Given the description of an element on the screen output the (x, y) to click on. 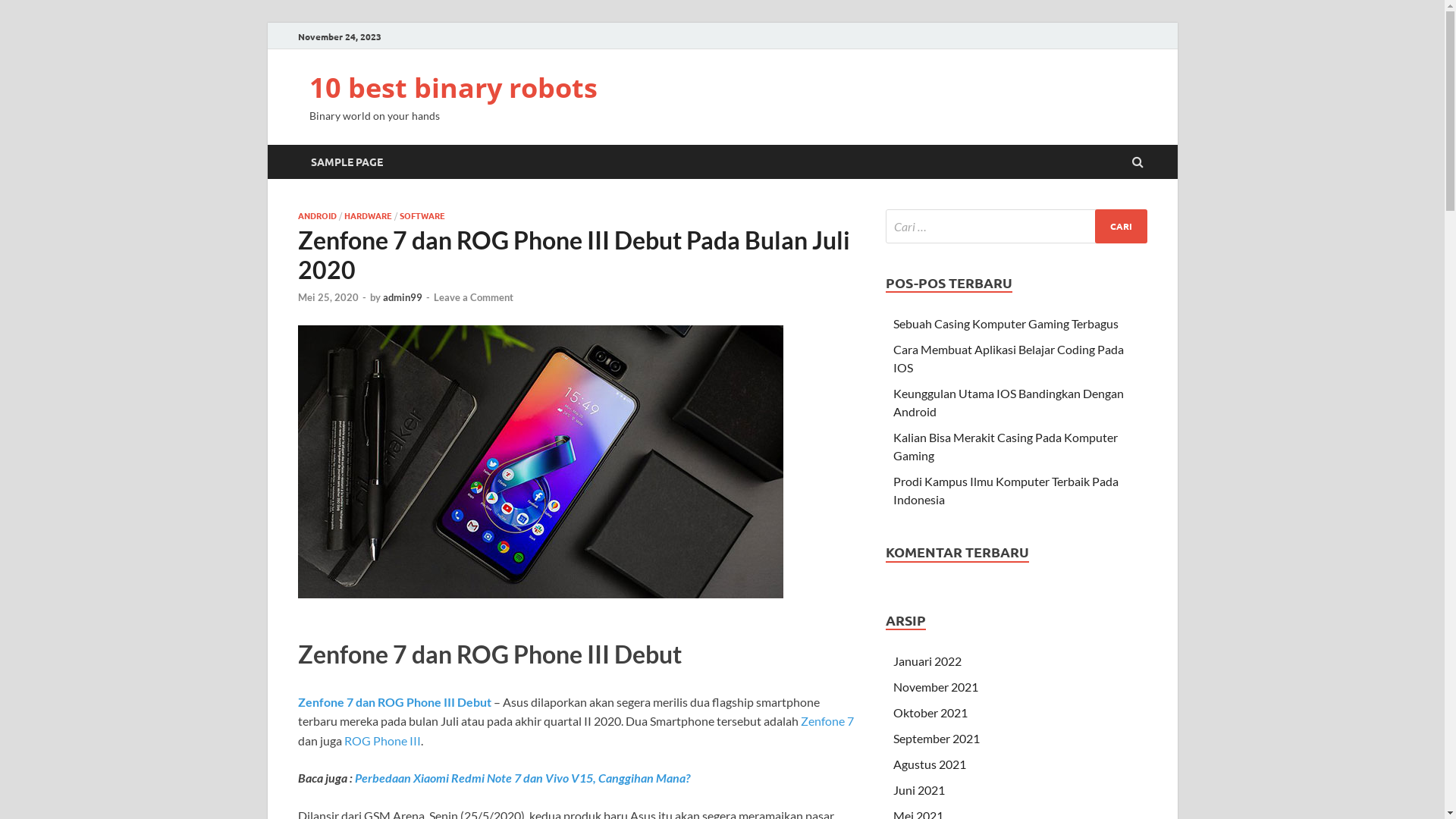
Juni 2021 Element type: text (918, 789)
November 2021 Element type: text (935, 686)
Zenfone 7 dan ROG Phone III Debut Element type: text (393, 701)
Cara Membuat Aplikasi Belajar Coding Pada IOS Element type: text (1008, 358)
Januari 2022 Element type: text (927, 660)
10 best binary robots Element type: text (453, 87)
admin99 Element type: text (401, 297)
ANDROID Element type: text (316, 215)
Sebuah Casing Komputer Gaming Terbagus Element type: text (1005, 323)
Cari Element type: text (1121, 226)
SAMPLE PAGE Element type: text (346, 161)
Mei 25, 2020 Element type: text (327, 297)
Agustus 2021 Element type: text (929, 763)
SOFTWARE Element type: text (421, 215)
Zenfone 7 Element type: text (826, 720)
ROG Phone III Element type: text (382, 740)
Leave a Comment Element type: text (473, 297)
Perbedaan Xiaomi Redmi Note 7 dan Vivo V15, Canggihan Mana? Element type: text (522, 777)
September 2021 Element type: text (936, 738)
HARDWARE Element type: text (368, 215)
Kalian Bisa Merakit Casing Pada Komputer Gaming Element type: text (1005, 445)
Oktober 2021 Element type: text (930, 712)
Keunggulan Utama IOS Bandingkan Dengan Android Element type: text (1008, 401)
Prodi Kampus Ilmu Komputer Terbaik Pada Indonesia Element type: text (1005, 489)
